Given the description of an element on the screen output the (x, y) to click on. 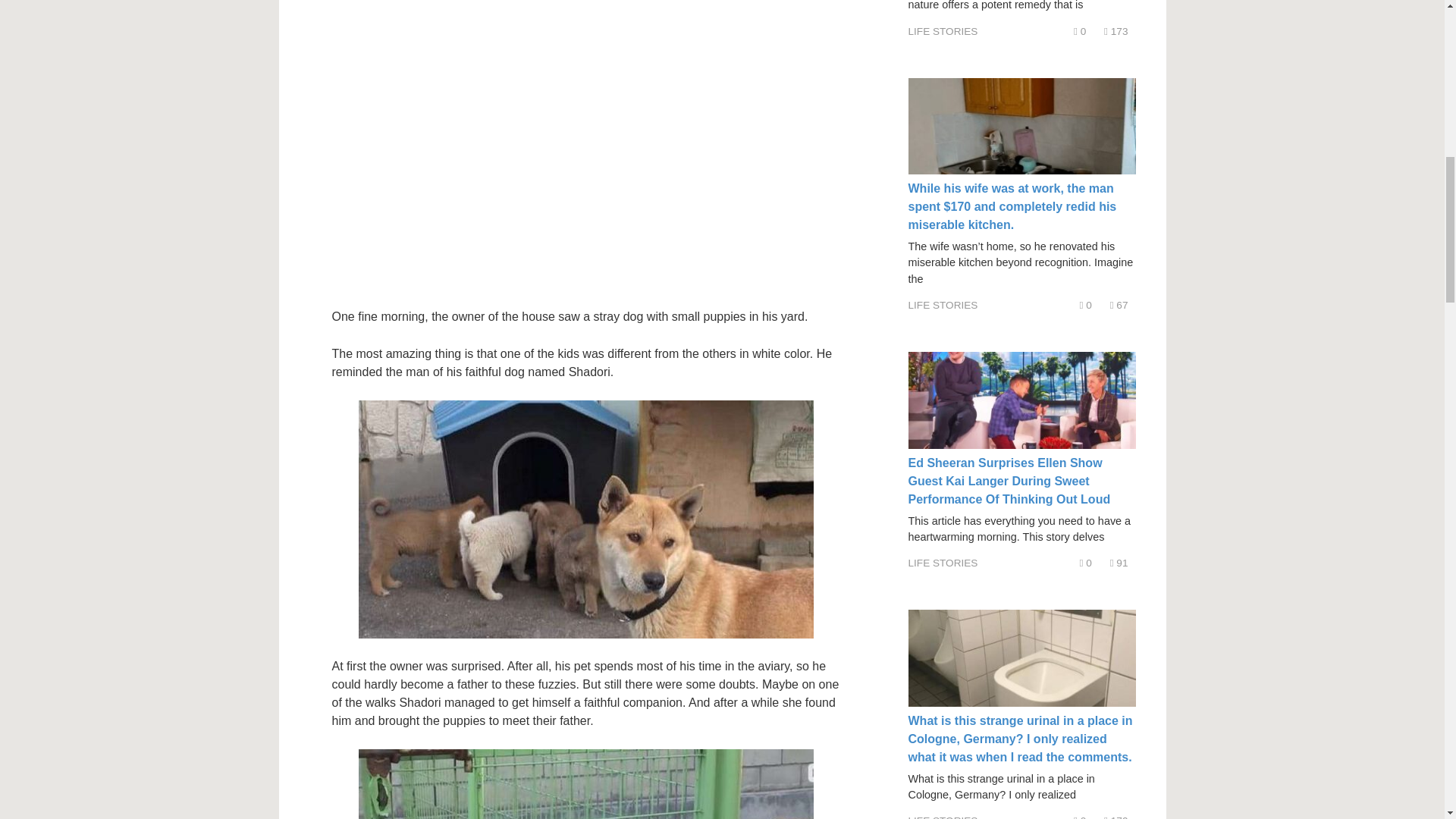
LIFE STORIES (943, 30)
Advertisement (551, 132)
LIFE STORIES (943, 305)
LIFE STORIES (943, 562)
